Given the description of an element on the screen output the (x, y) to click on. 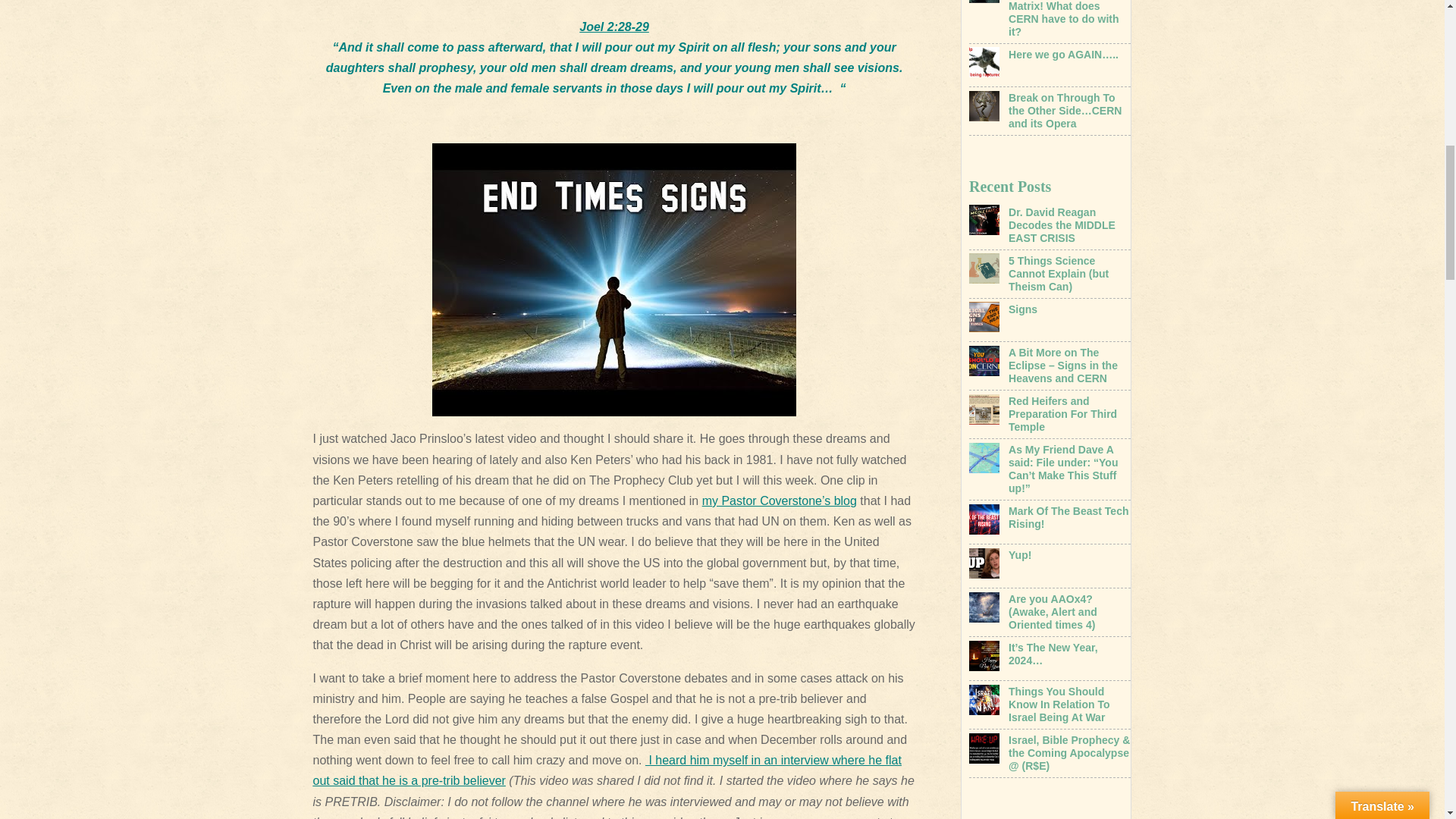
Joel 2:28-29 (614, 25)
